Given the description of an element on the screen output the (x, y) to click on. 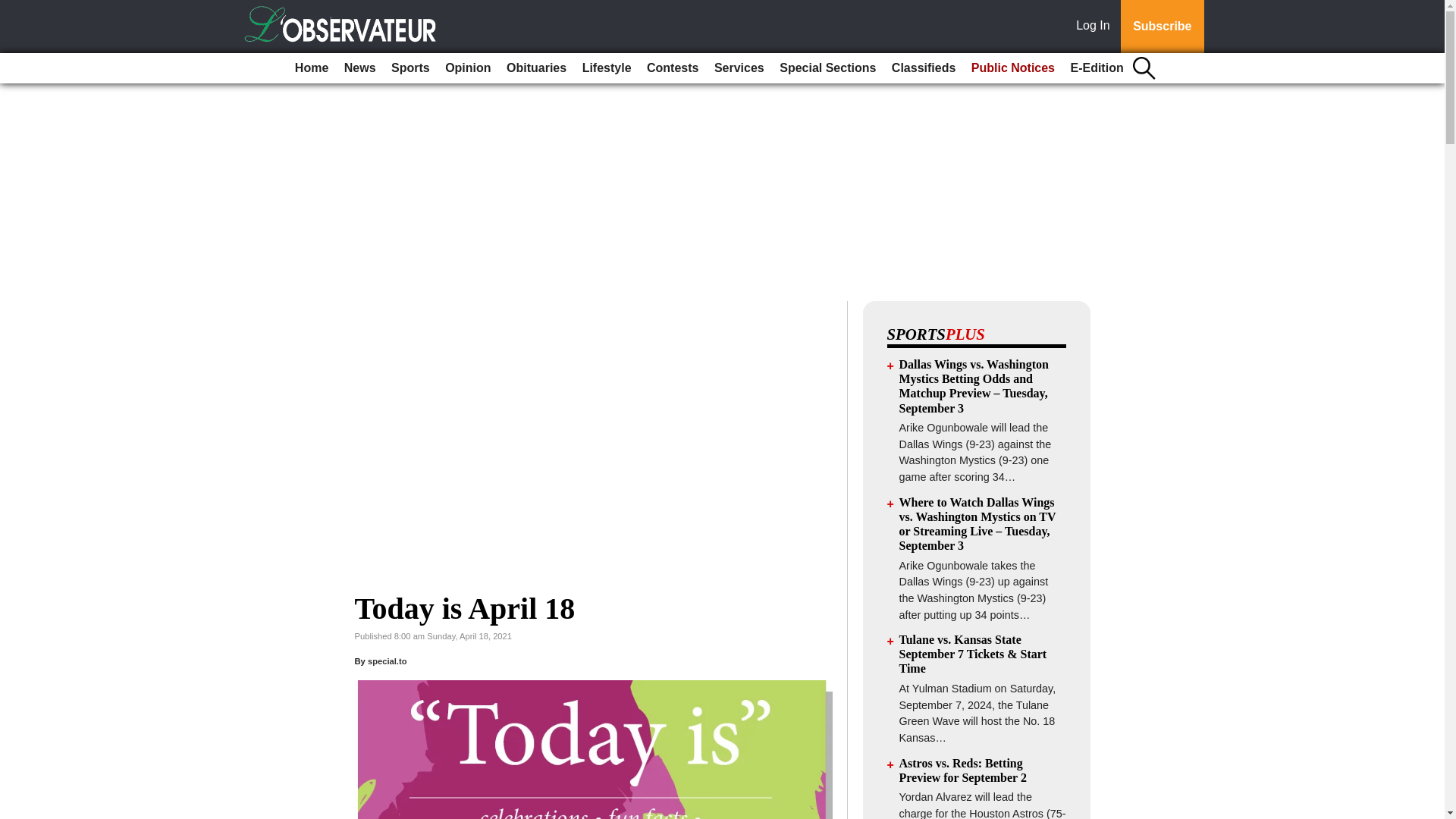
Services (738, 68)
Opinion (467, 68)
Log In (1095, 26)
Home (311, 68)
Subscribe (1162, 26)
E-Edition (1096, 68)
Obituaries (536, 68)
Classifieds (922, 68)
Go (13, 9)
Special Sections (827, 68)
